Given the description of an element on the screen output the (x, y) to click on. 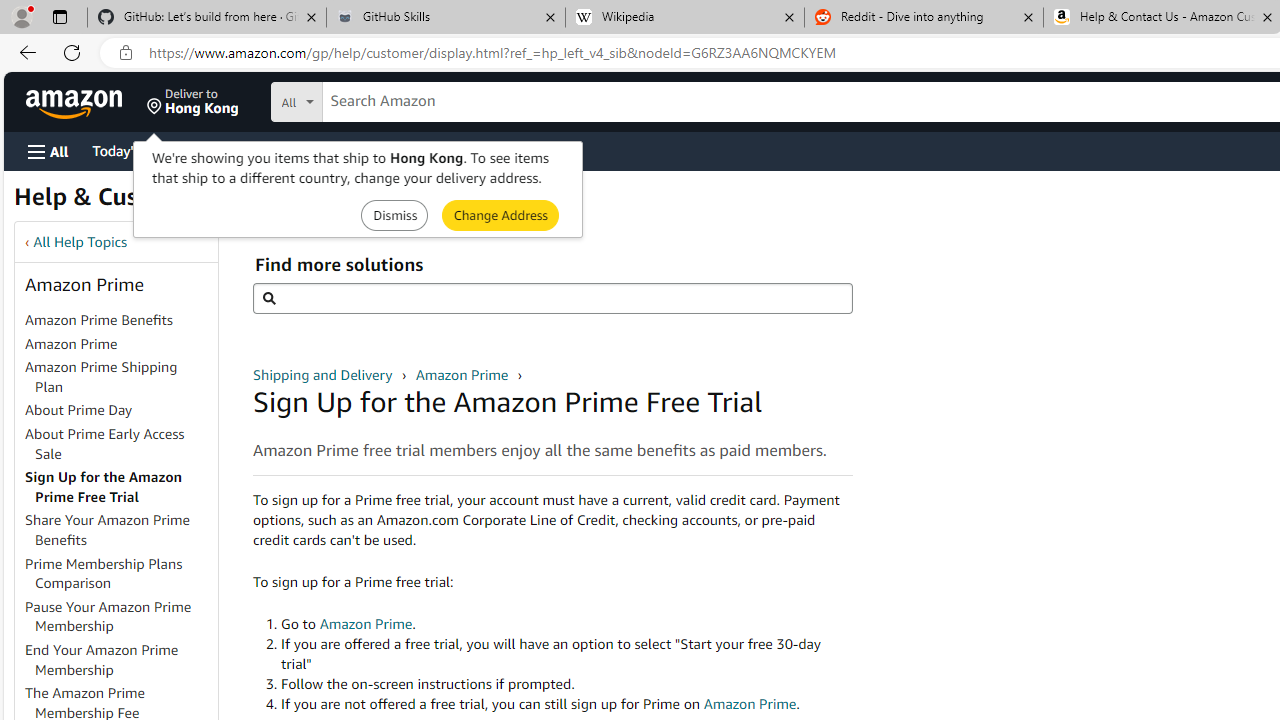
Follow the on-screen instructions if prompted. (566, 683)
Today's Deals (134, 150)
Refresh (72, 52)
Share Your Amazon Prime Benefits (107, 529)
